Given the description of an element on the screen output the (x, y) to click on. 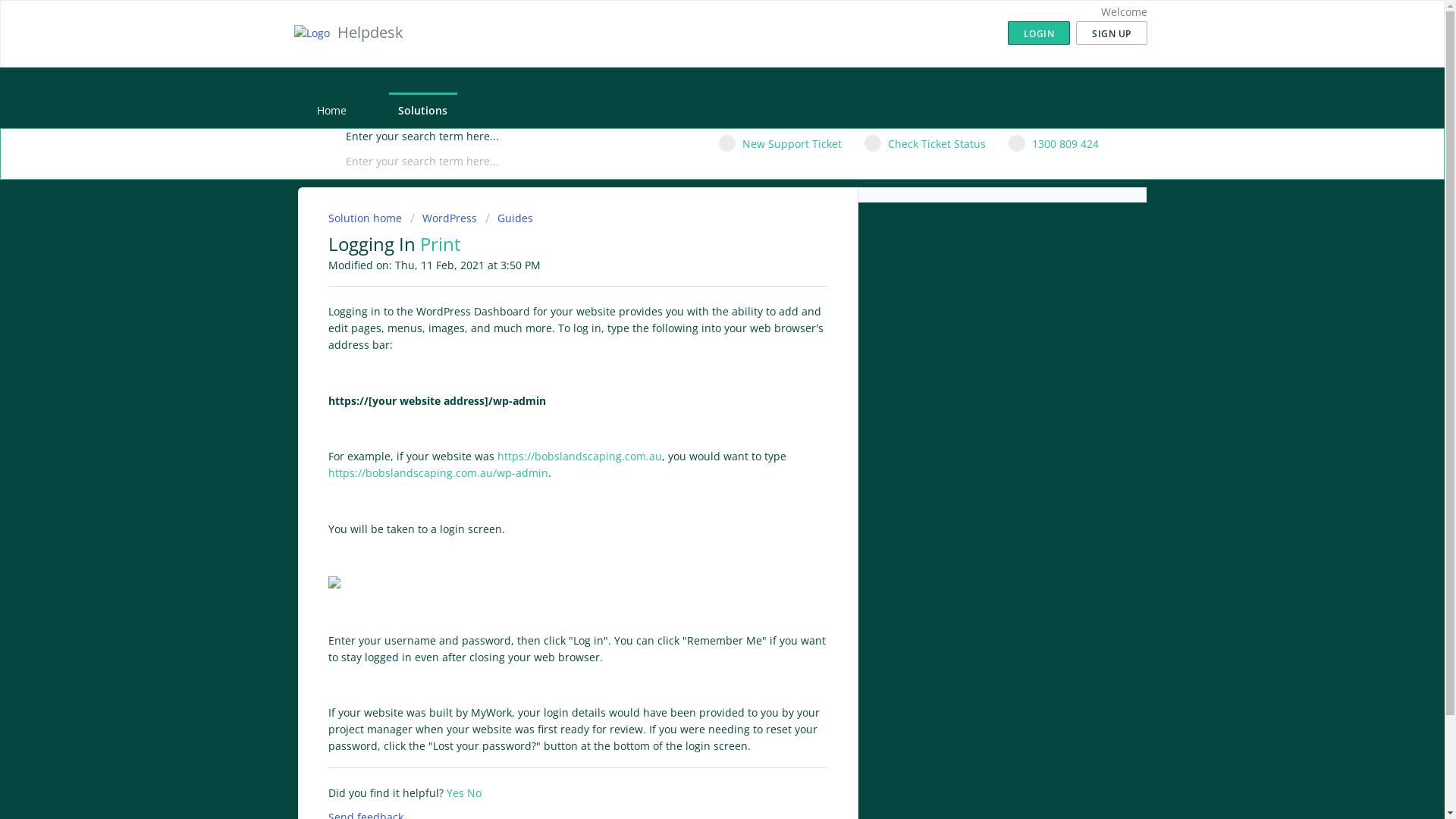
Print Element type: text (440, 243)
Solutions Element type: text (422, 110)
https://bobslandscaping.com.au Element type: text (579, 455)
New Support Ticket Element type: text (779, 143)
Home Element type: text (331, 110)
Solution home Element type: text (365, 217)
WordPress Element type: text (442, 217)
LOGIN Element type: text (1038, 32)
1300 809 424 Element type: text (1053, 143)
Check Ticket Status Element type: text (924, 143)
Guides Element type: text (509, 217)
SIGN UP Element type: text (1111, 32)
https://bobslandscaping.com.au/wp-admin Element type: text (437, 472)
